Given the description of an element on the screen output the (x, y) to click on. 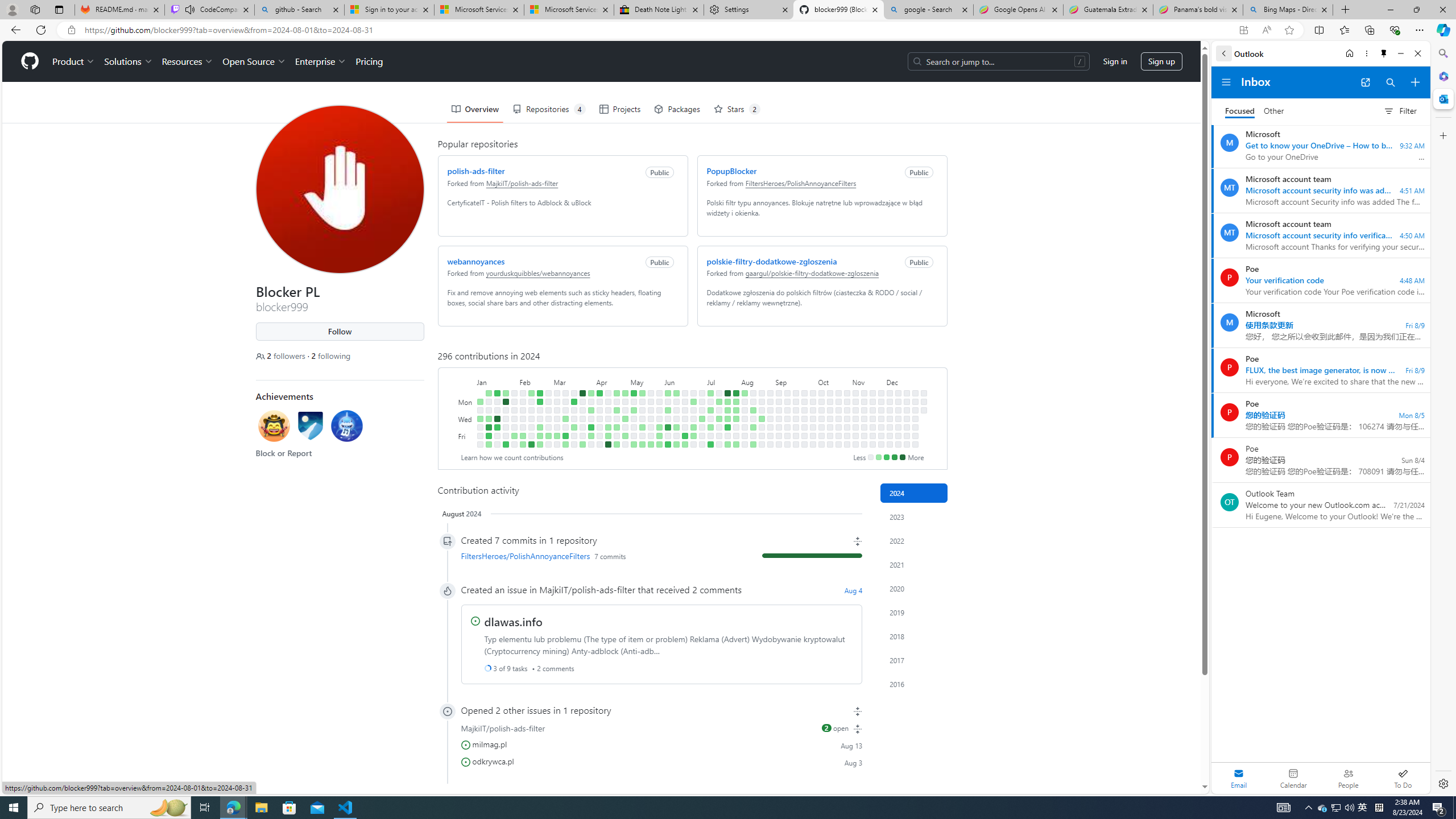
June (683, 380)
No contributions on February 6th. (522, 410)
No contributions on May 28th. (658, 410)
2 contributions on July 15th. (718, 401)
No contributions on January 30th. (513, 410)
No contributions on February 15th. (530, 427)
Folder navigation (1225, 82)
No contributions on October 22nd. (837, 410)
March (573, 380)
May (646, 380)
1 contribution on April 2nd. (591, 410)
No contributions on June 7th. (667, 435)
